Given the description of an element on the screen output the (x, y) to click on. 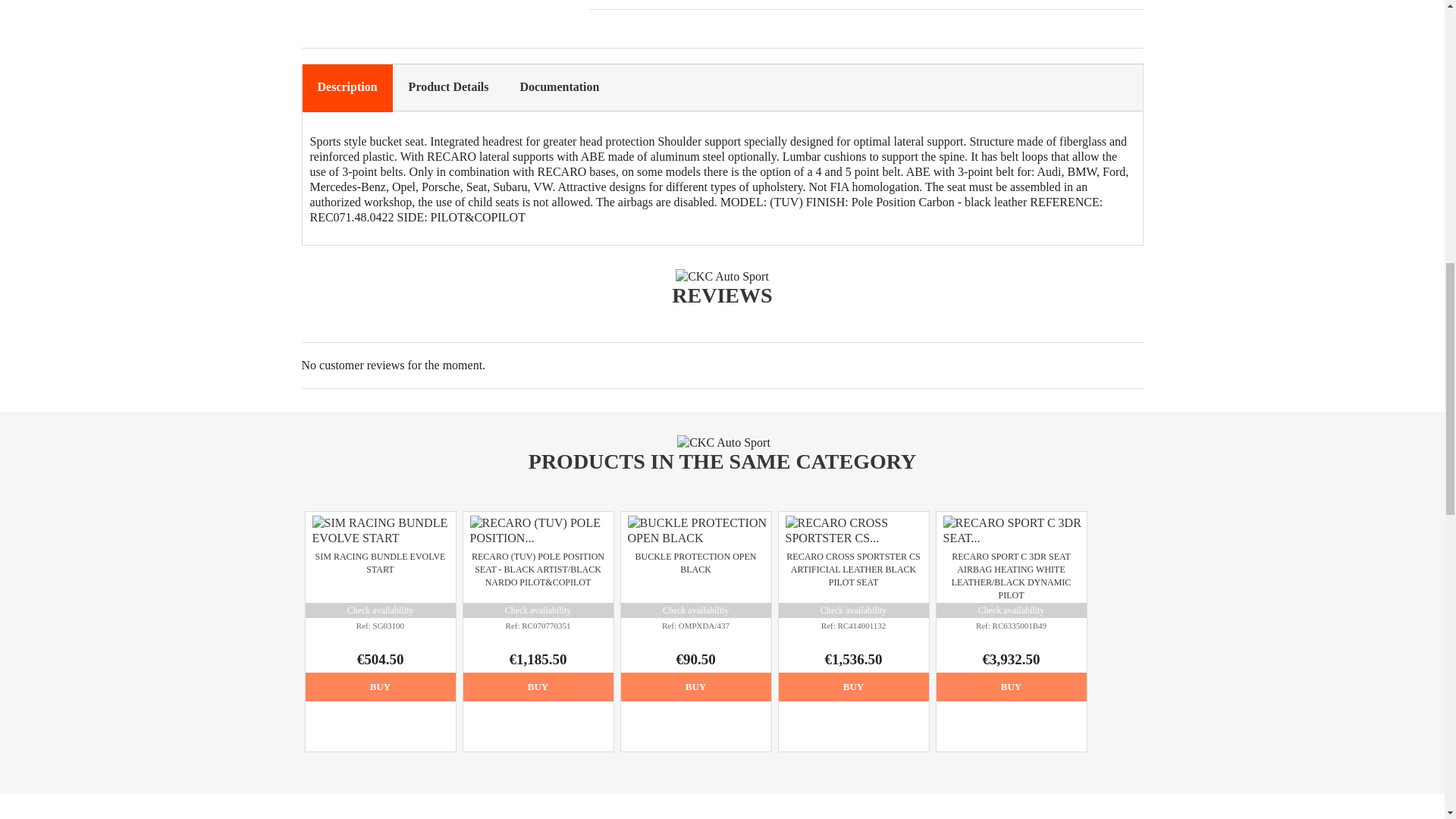
California Scents (530, 818)
